Given the description of an element on the screen output the (x, y) to click on. 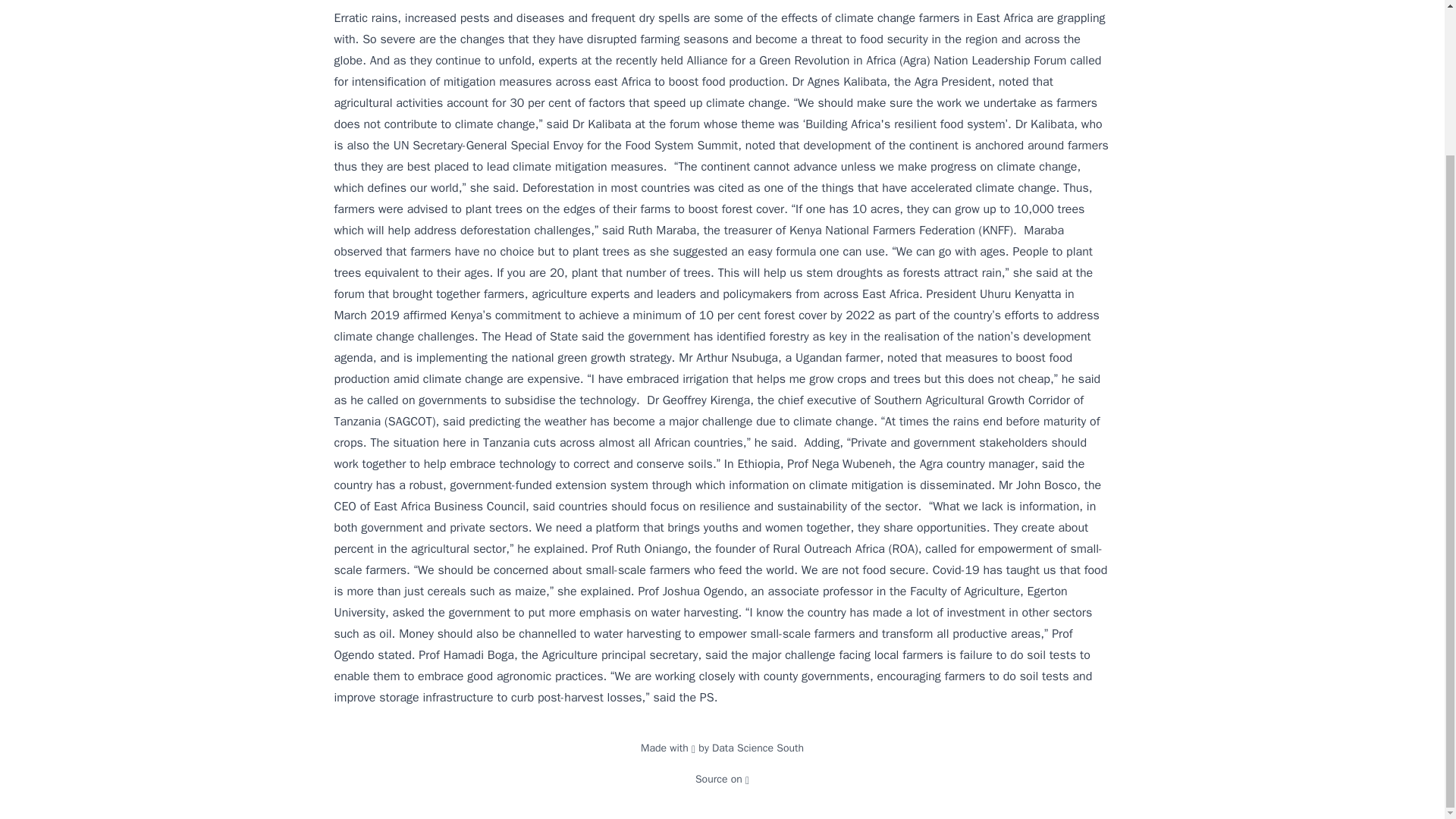
Source on (722, 779)
Made with by Data Science South (721, 748)
